Given the description of an element on the screen output the (x, y) to click on. 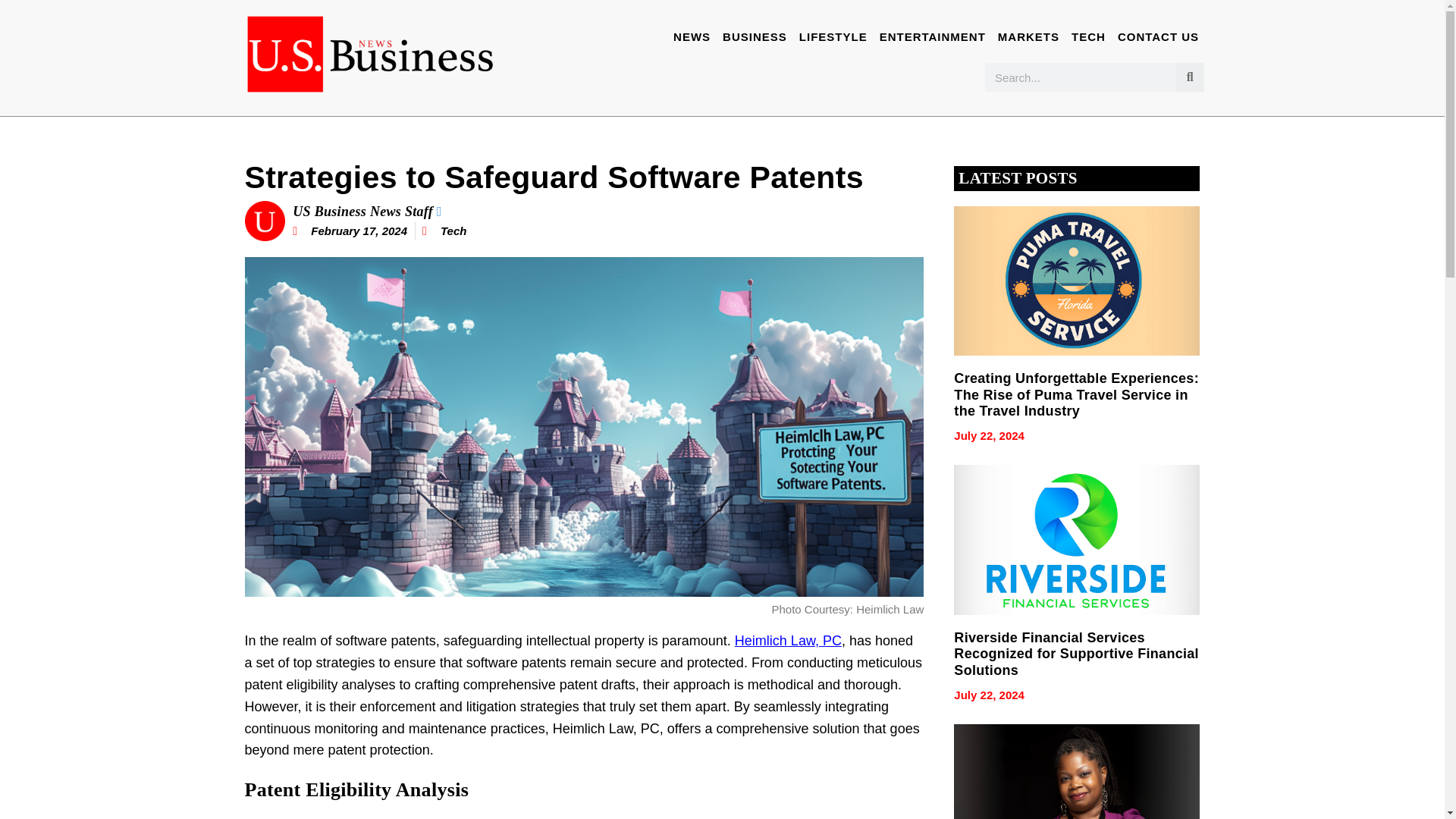
CONTACT US (1158, 36)
TECH (1087, 36)
ENTERTAINMENT (933, 36)
NEWS (692, 36)
BUSINESS (754, 36)
MARKETS (1028, 36)
LIFESTYLE (832, 36)
